Given the description of an element on the screen output the (x, y) to click on. 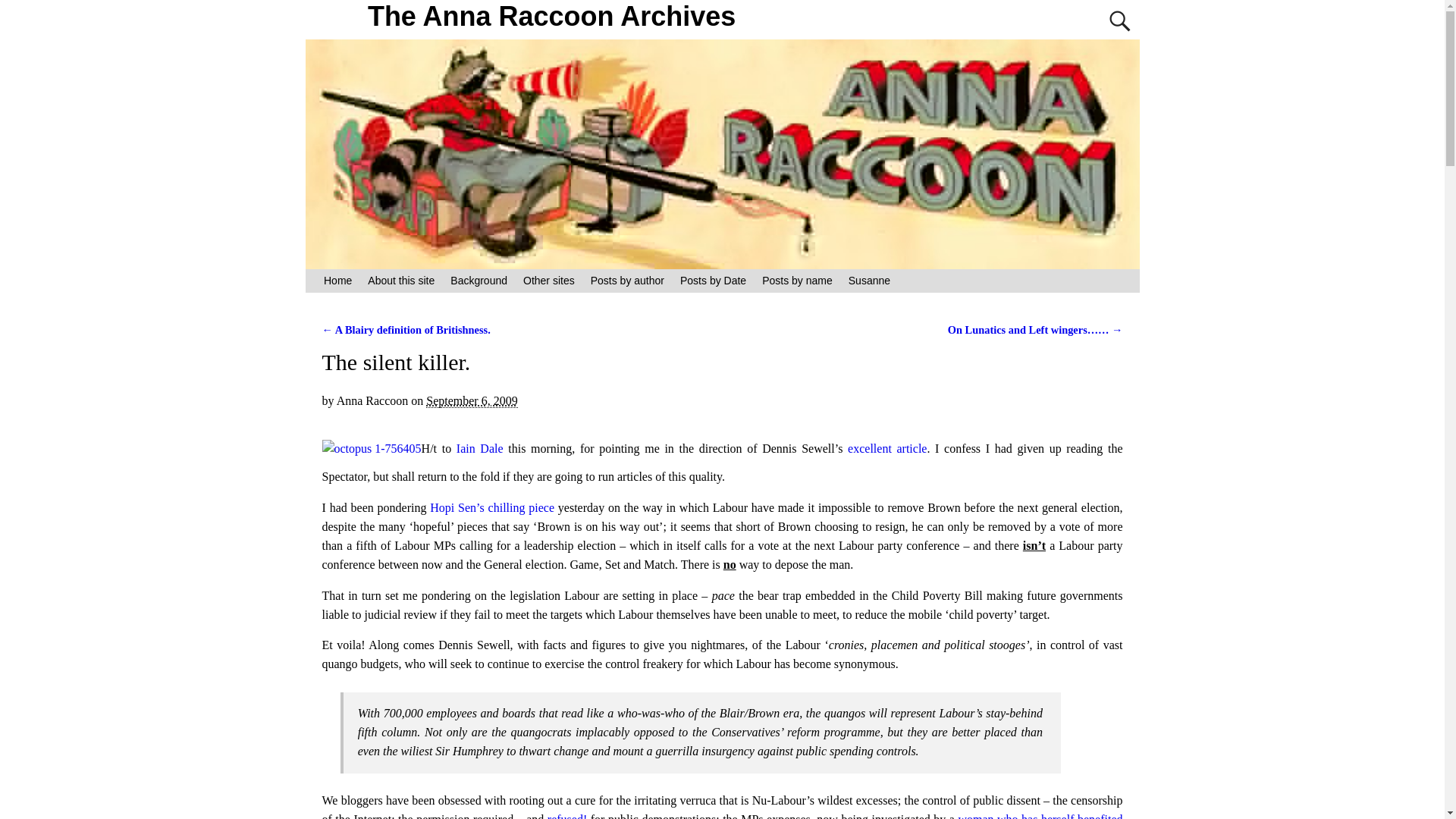
refused! (569, 816)
Other sites (549, 280)
woman who has herself benefited (1040, 816)
Home (337, 280)
Susanne (869, 280)
The Anna Raccoon Archives (551, 15)
About this site (400, 280)
The Anna Raccoon Archives (551, 15)
excellent article (886, 448)
2009-09-06 (471, 400)
